Given the description of an element on the screen output the (x, y) to click on. 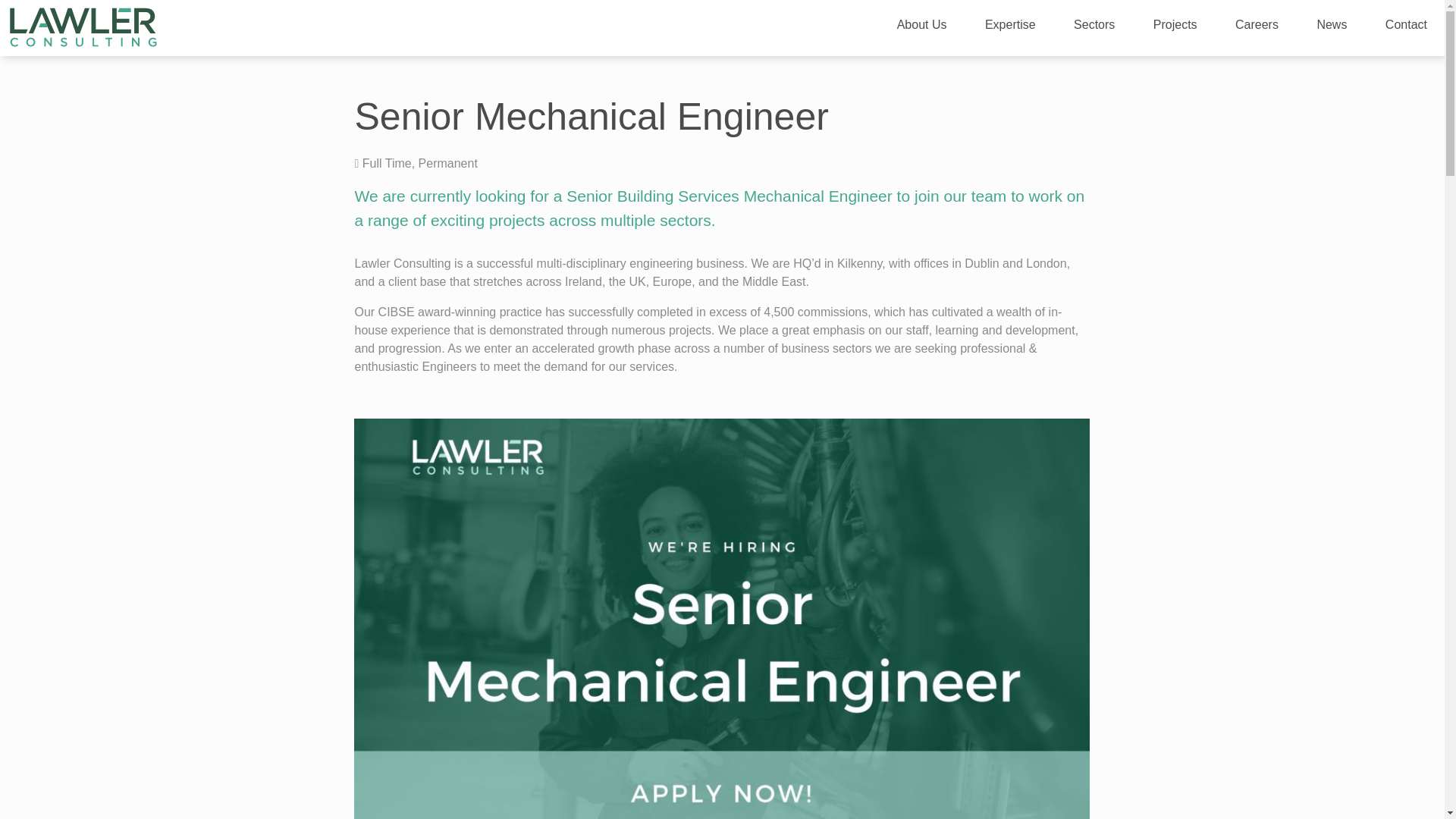
Lawler Consulting logo (83, 25)
Expertise (1010, 27)
About Us (921, 27)
News (1331, 27)
Careers (1256, 27)
Sectors (1094, 27)
Projects (1174, 27)
